Given the description of an element on the screen output the (x, y) to click on. 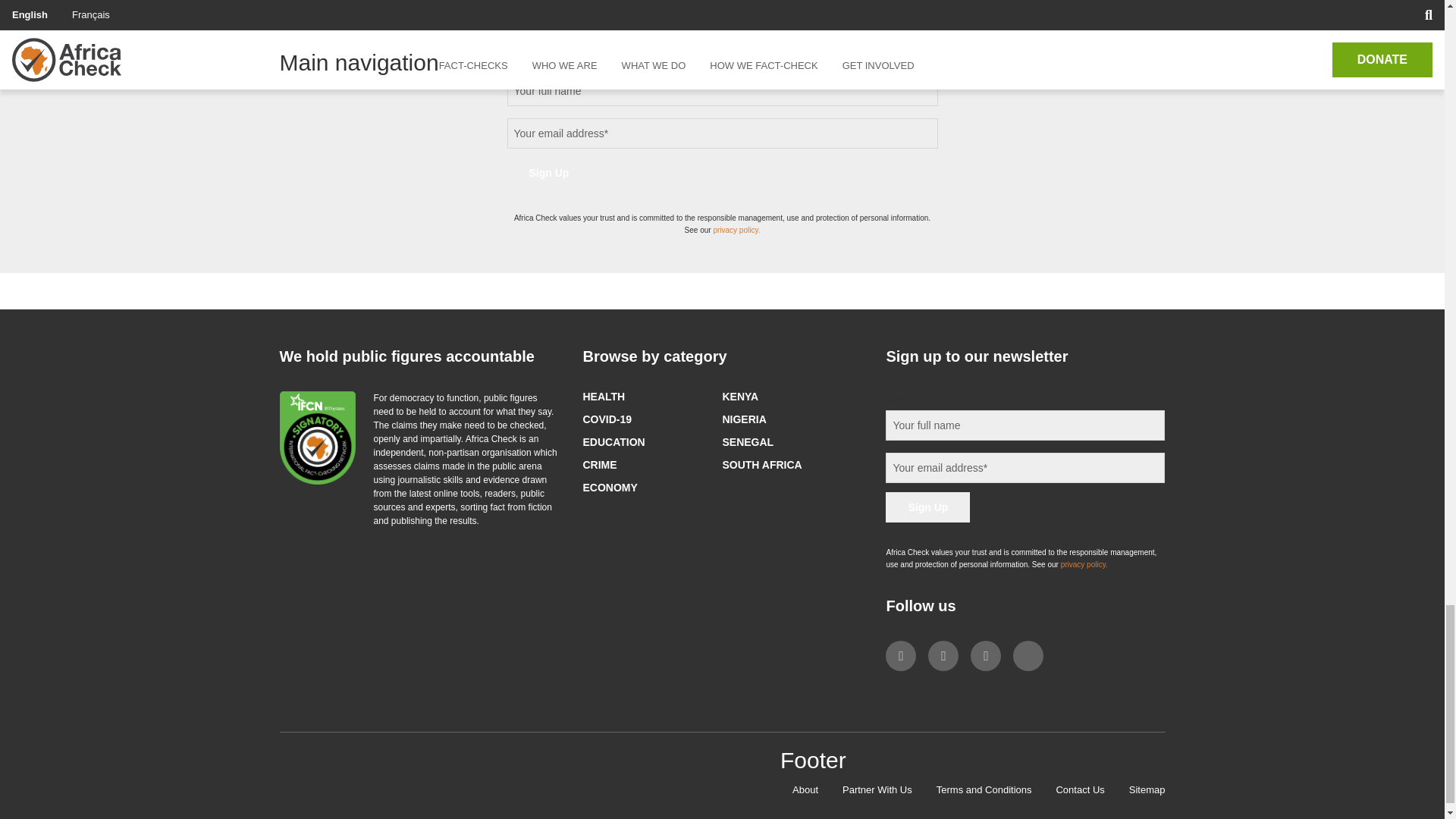
Sign Up (548, 173)
IFCN signatory (317, 438)
Sign Up (927, 507)
